Given the description of an element on the screen output the (x, y) to click on. 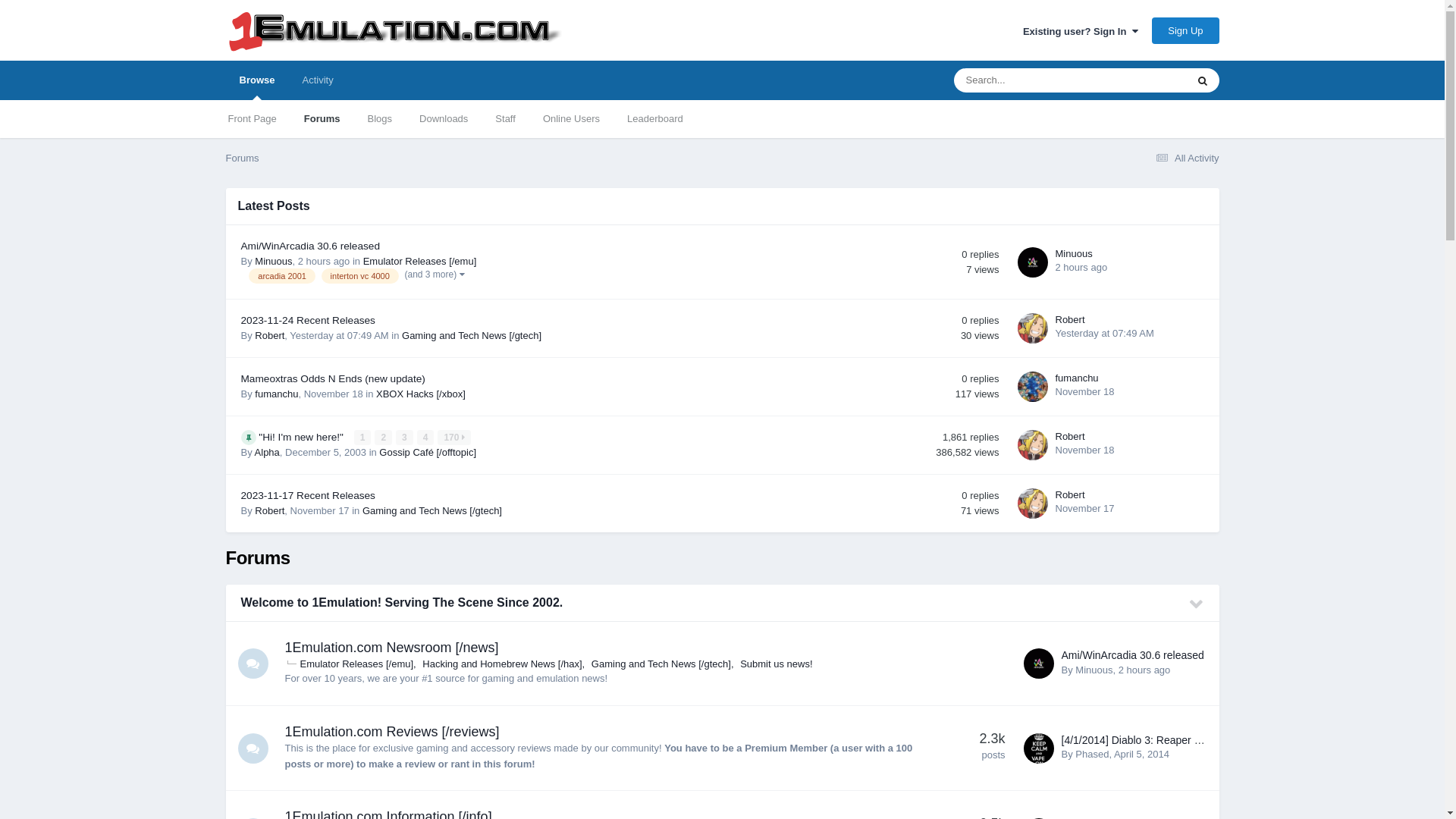
Go to fumanchu's profile Element type: hover (1032, 386)
April 5, 2014 Element type: text (1141, 753)
Alpha Element type: text (266, 452)
Front Page Element type: text (251, 119)
Hacking and Homebrew News [/hax] Element type: text (503, 663)
Yesterday at 07:49 AM Element type: text (1104, 332)
Robert Element type: text (1070, 436)
Go to Robert's profile Element type: hover (1032, 444)
Sign Up Element type: text (1184, 29)
2023-11-17 Recent Releases Element type: text (308, 495)
Leaderboard Element type: text (654, 119)
Ami/WinArcadia 30.6 released Element type: text (1132, 655)
Blogs Element type: text (379, 119)
Go to Robert's profile Element type: hover (1032, 503)
1 Element type: text (362, 437)
1Emulation.com Newsroom [/news] Element type: text (391, 647)
Go to Robert's profile Element type: hover (1032, 328)
Go to Phased's profile Element type: hover (1038, 748)
Existing user? Sign In   Element type: text (1080, 31)
Forums Element type: text (322, 119)
All Activity Element type: text (1184, 157)
4 Element type: text (425, 437)
3 Element type: text (404, 437)
Gaming and Tech News [/gtech] Element type: text (432, 510)
November 18 Element type: text (1084, 449)
Gaming and Tech News [/gtech] Element type: text (471, 335)
Go to Minuous's profile Element type: hover (1032, 262)
fumanchu Element type: text (1076, 377)
Online Users Element type: text (571, 119)
Go to Minuous's profile Element type: hover (1038, 663)
Mameoxtras Odds N Ends (new update) Element type: text (333, 378)
2 hours ago Element type: text (1081, 267)
Robert Element type: text (1070, 319)
Toggle this category Element type: hover (1196, 603)
interton vc 4000 Element type: text (359, 275)
Gaming and Tech News [/gtech] Element type: text (662, 663)
1Emulation.com Reviews [/reviews] Element type: text (392, 731)
Emulator Releases [/emu] Element type: text (419, 260)
170 Element type: text (453, 437)
Staff Element type: text (505, 119)
Emulator Releases [/emu] Element type: text (358, 663)
[4/1/2014] Diablo 3: Reaper of Souls Element type: text (1147, 740)
Activity Element type: text (317, 80)
Submit us news! Element type: text (776, 663)
Ami/WinArcadia 30.6 released Element type: text (310, 245)
Welcome to 1Emulation! Serving The Scene Since 2002. Element type: text (402, 602)
Phased Element type: text (1091, 753)
Downloads Element type: text (443, 119)
Robert Element type: text (269, 335)
November 17 Element type: text (1084, 508)
2 Element type: text (383, 437)
Robert Element type: text (1070, 494)
Pinned Element type: hover (248, 437)
Minuous Element type: text (1093, 669)
2 hours ago Element type: text (1144, 669)
Minuous Element type: text (1073, 253)
Browse Element type: text (256, 80)
XBOX Hacks [/xbox] Element type: text (420, 393)
November 18 Element type: text (1084, 391)
2023-11-24 Recent Releases Element type: text (308, 320)
arcadia 2001 Element type: text (281, 275)
Minuous Element type: text (272, 260)
Forums Element type: text (242, 157)
fumanchu Element type: text (276, 393)
"Hi! I'm new here!" Element type: text (301, 436)
Robert Element type: text (269, 510)
